Given the description of an element on the screen output the (x, y) to click on. 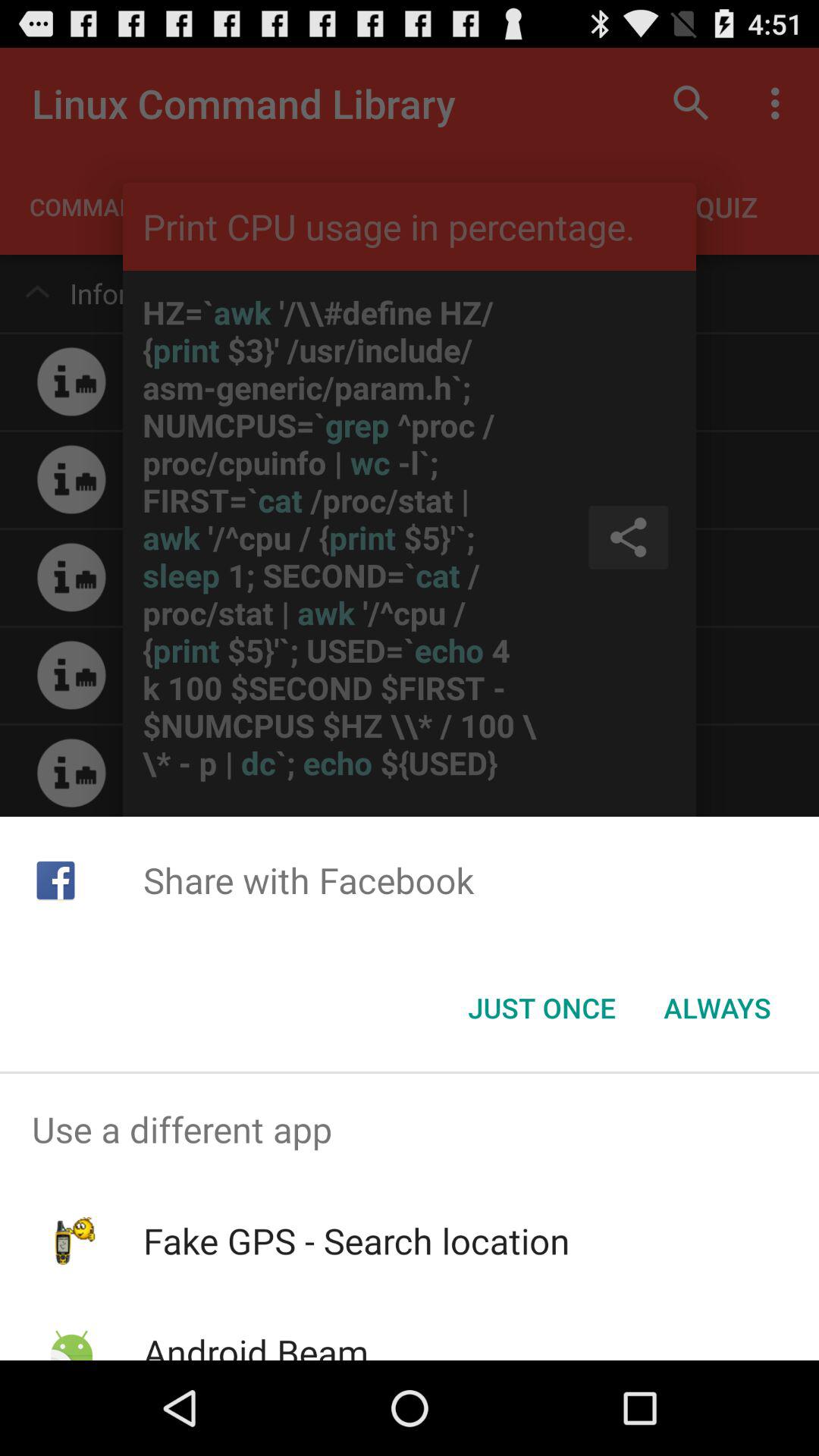
turn on the fake gps search item (356, 1240)
